Given the description of an element on the screen output the (x, y) to click on. 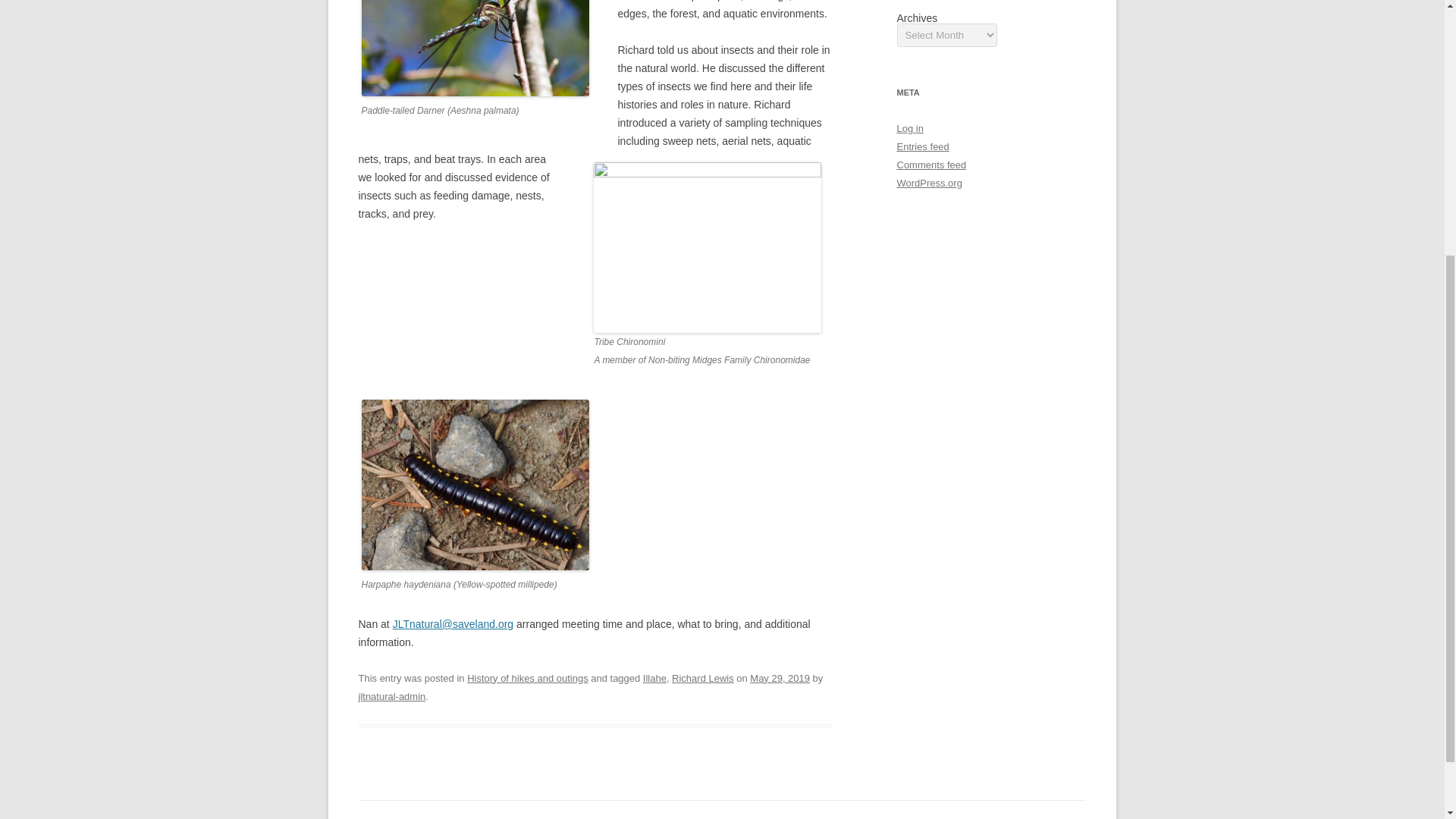
jltnatural-admin (391, 696)
10:30 am (779, 677)
May 29, 2019 (779, 677)
Comments feed (931, 164)
Log in (909, 128)
View all posts by jltnatural-admin (391, 696)
History of hikes and outings (527, 677)
Richard Lewis (702, 677)
WordPress.org (928, 183)
Illahe (654, 677)
Entries feed (922, 146)
